Given the description of an element on the screen output the (x, y) to click on. 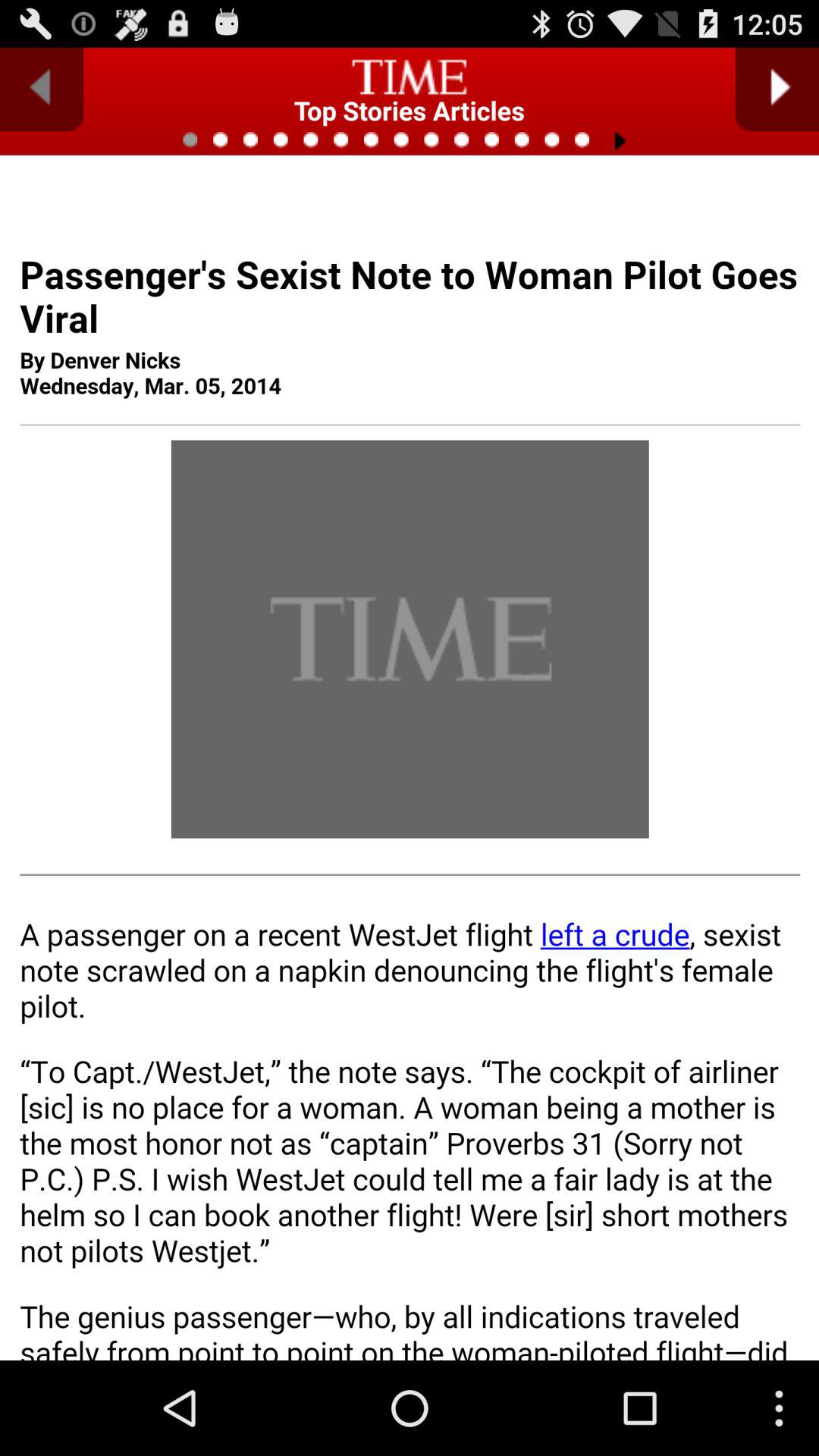
go next icon (777, 89)
